Given the description of an element on the screen output the (x, y) to click on. 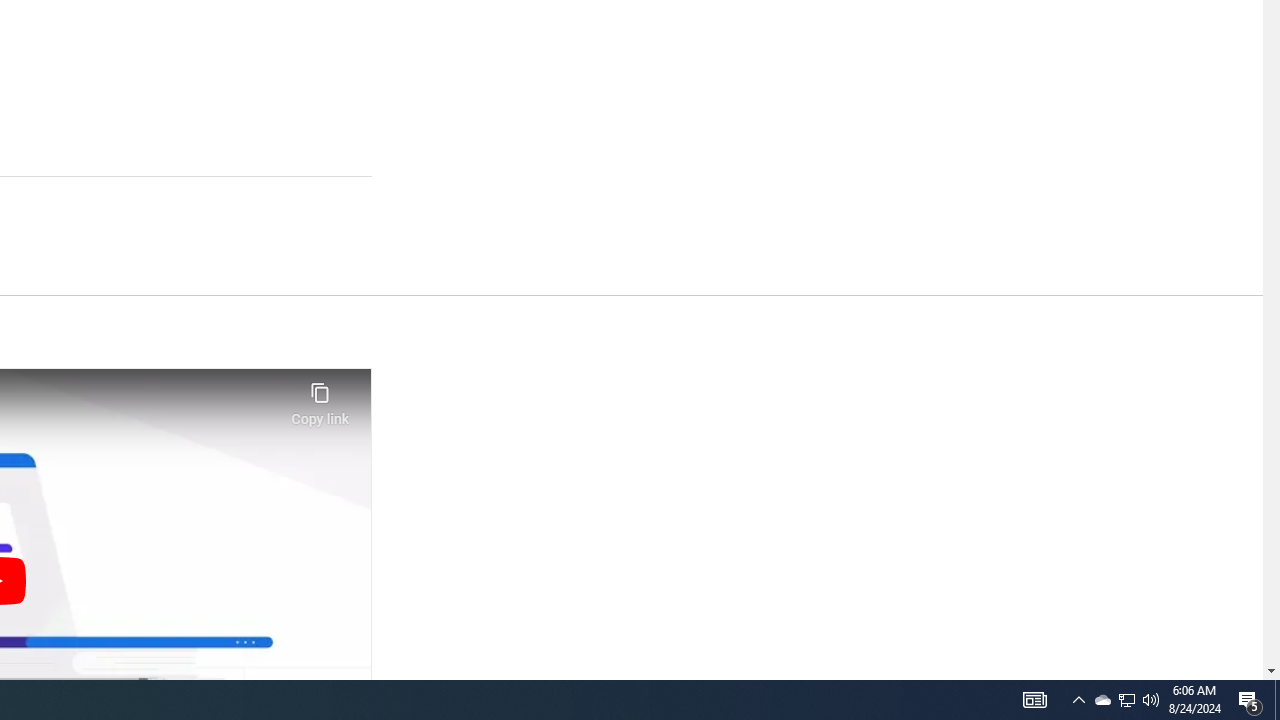
Copy link (319, 398)
